Given the description of an element on the screen output the (x, y) to click on. 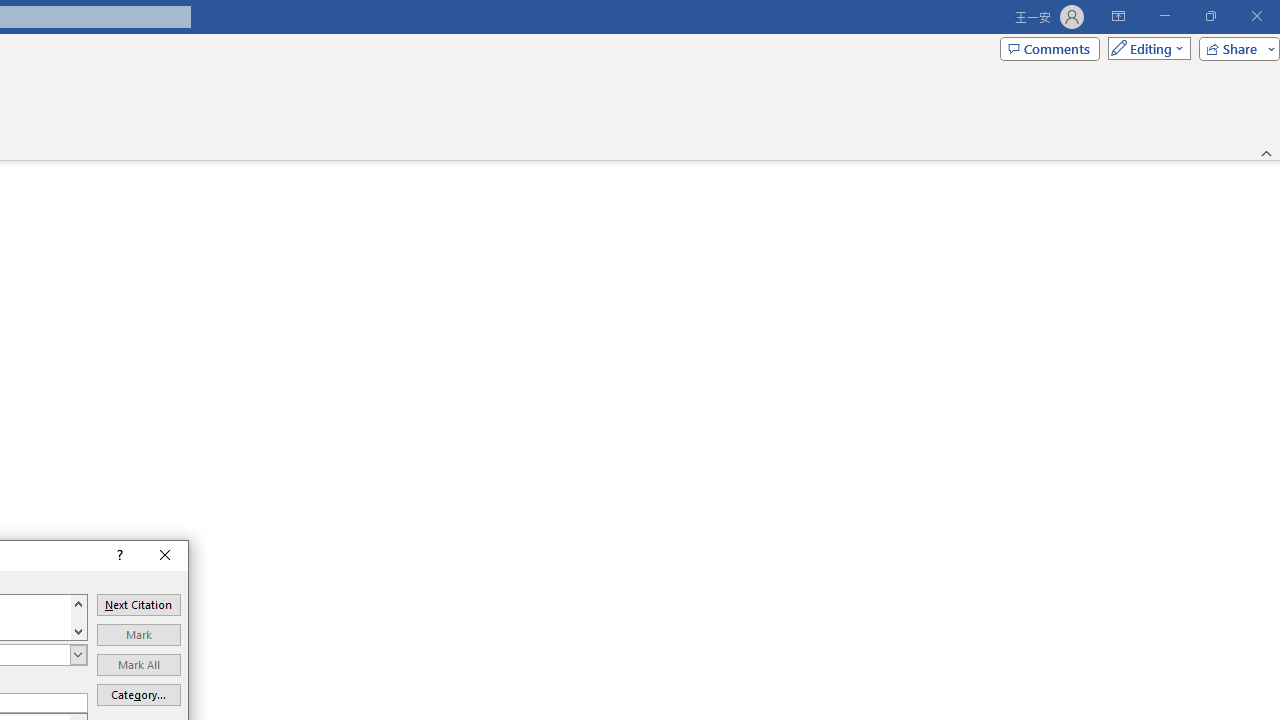
Editing (1144, 47)
Next Citation (138, 605)
